Given the description of an element on the screen output the (x, y) to click on. 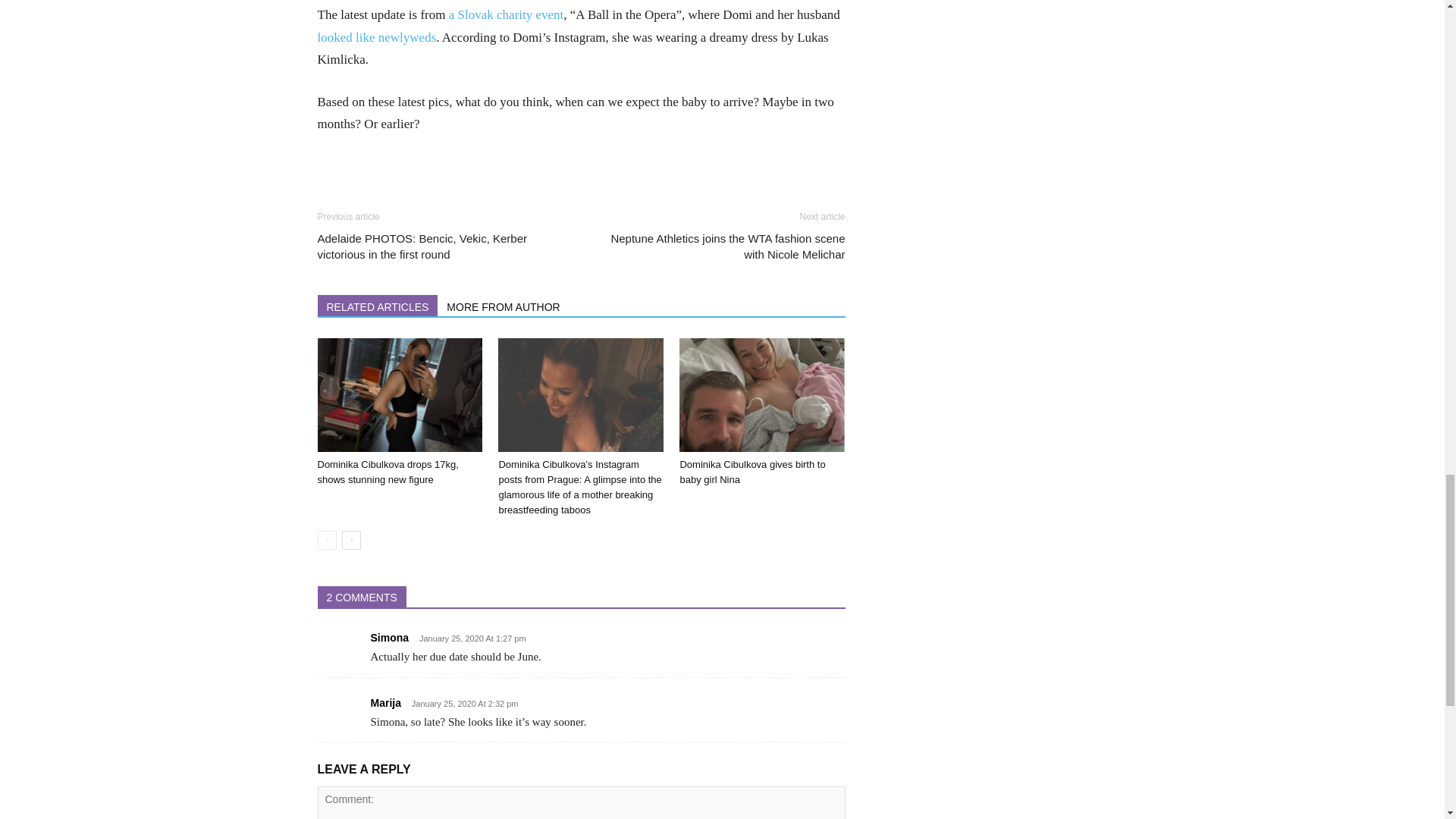
Dominika Cibulkova gives birth to baby girl Nina (761, 395)
Dominika Cibulkova drops 17kg, shows stunning new figure (399, 395)
Dominika Cibulkova drops 17kg, shows stunning new figure (387, 471)
Dominika Cibulkova gives birth to baby girl Nina (752, 471)
